Given the description of an element on the screen output the (x, y) to click on. 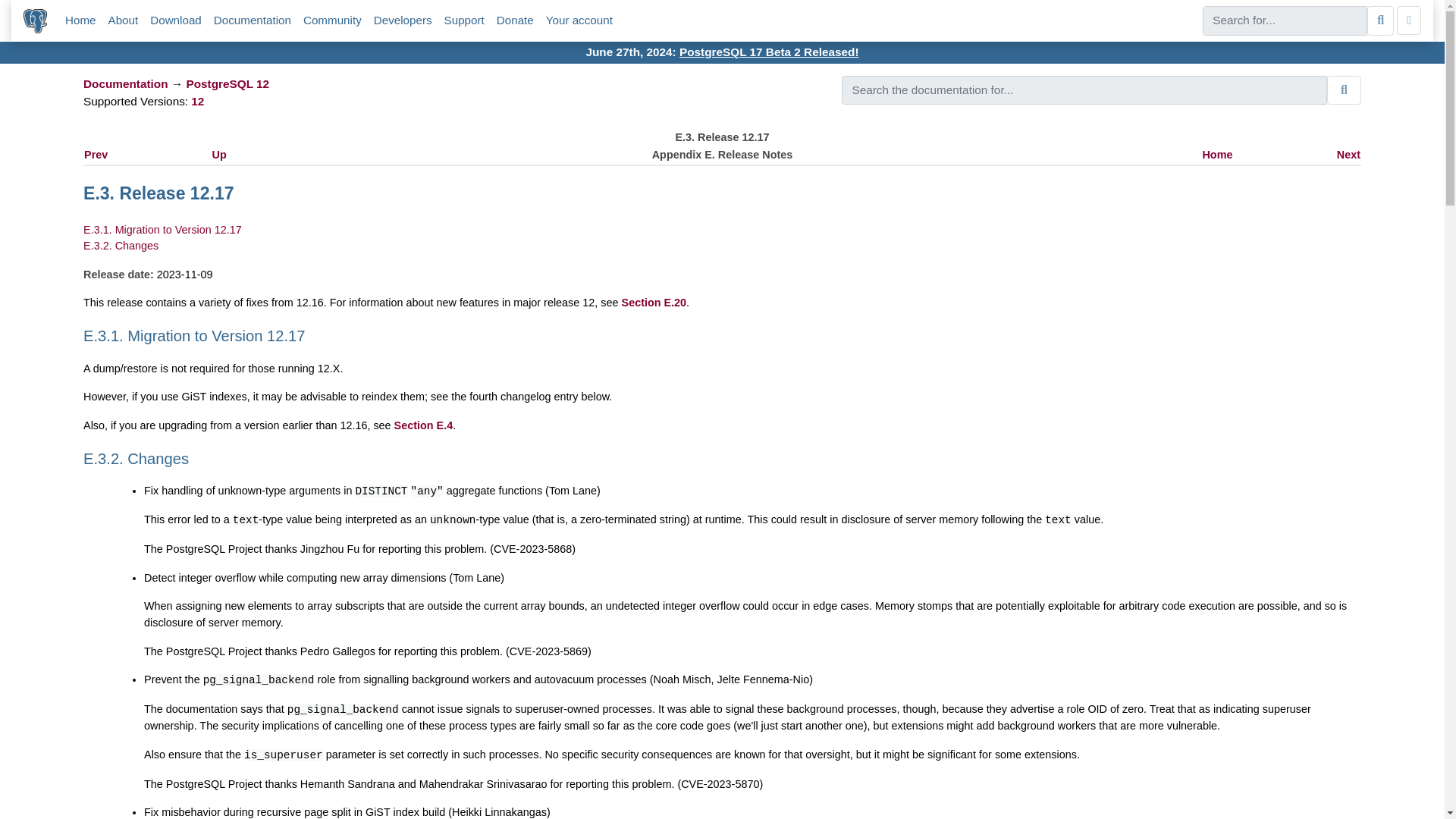
Developers (403, 19)
Section E.4 (423, 425)
Community (331, 19)
Section E.20 (654, 302)
Support (464, 19)
Documentation (252, 19)
About (122, 19)
Prev (95, 154)
Support (464, 19)
Download (175, 19)
Donate (515, 19)
Community (331, 19)
Your account (579, 19)
About (122, 19)
